Given the description of an element on the screen output the (x, y) to click on. 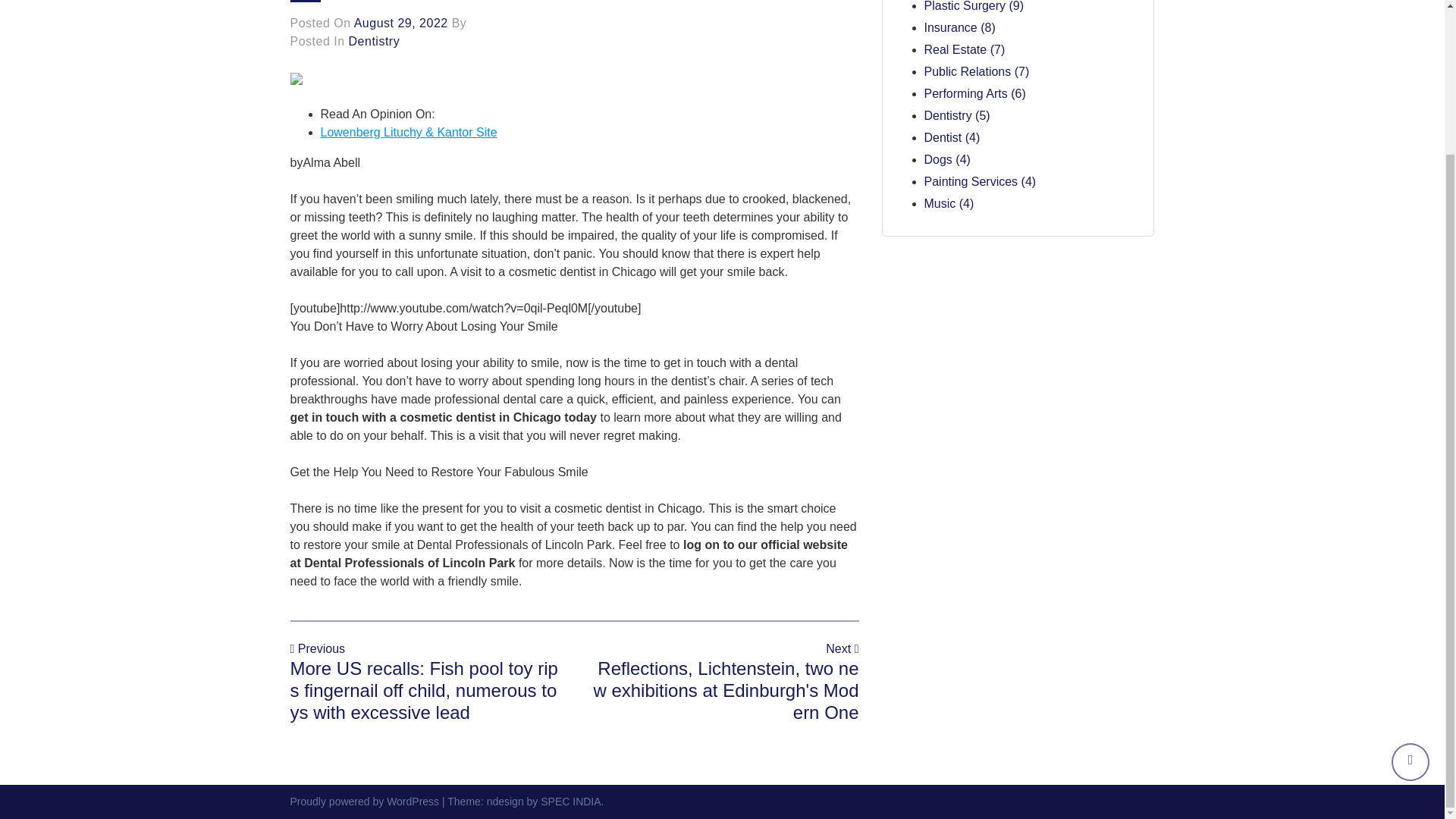
SPEC INDIA (569, 801)
August 29, 2022 (400, 22)
Dentistry (374, 41)
Previous (317, 648)
Next (842, 648)
Proudly powered by WordPress (365, 801)
